Given the description of an element on the screen output the (x, y) to click on. 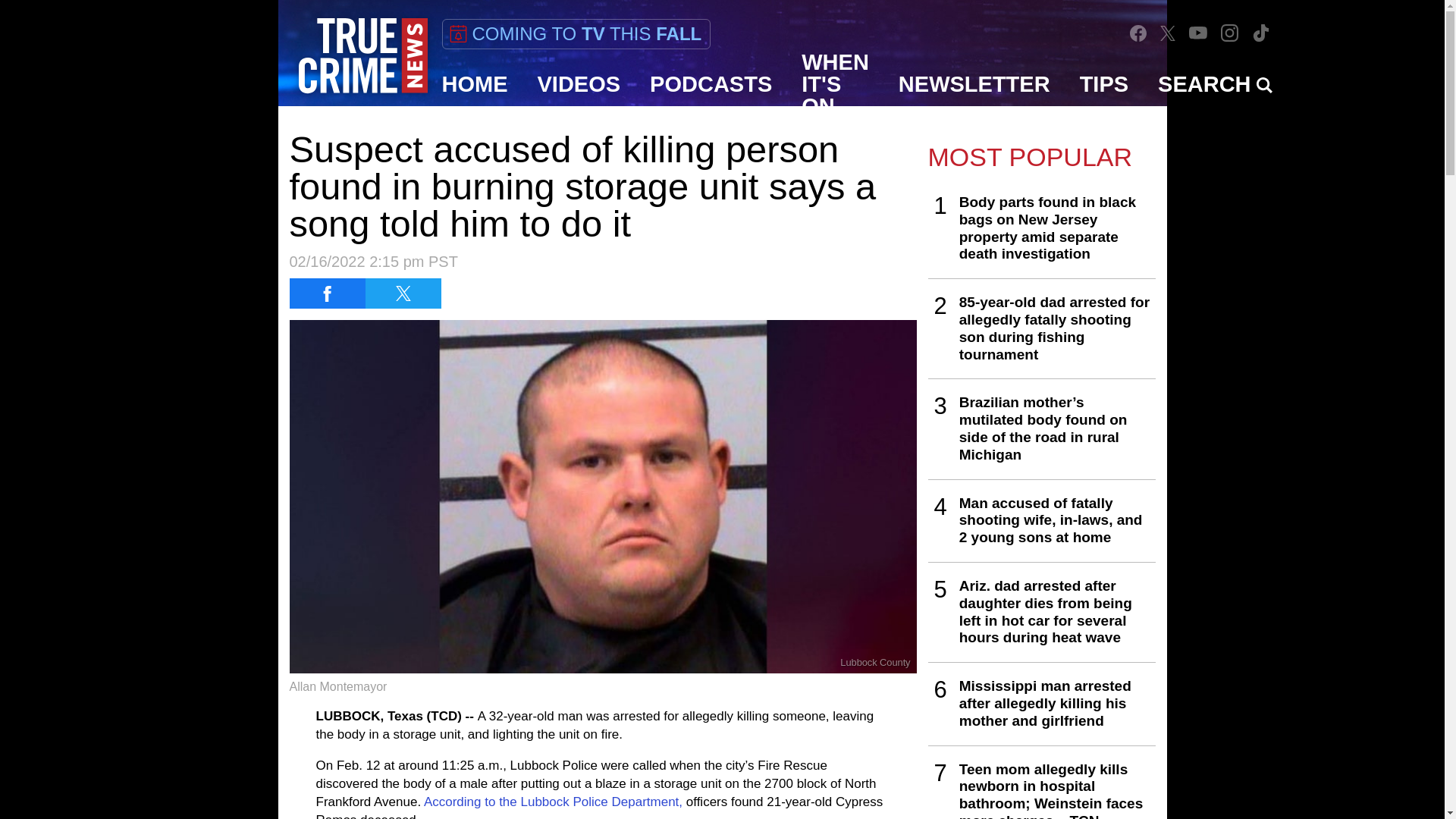
TikTok (1260, 32)
VIDEOS (579, 84)
Twitter (1167, 32)
True Crime News (363, 56)
Instagram (1230, 32)
HOME (475, 84)
Facebook (1137, 33)
YouTube (1198, 32)
YouTube (1198, 32)
NEWSLETTER (974, 84)
TIPS (1103, 84)
TikTok (1260, 32)
Facebook (1138, 32)
Twitter (1167, 32)
Instagram (1229, 32)
